Given the description of an element on the screen output the (x, y) to click on. 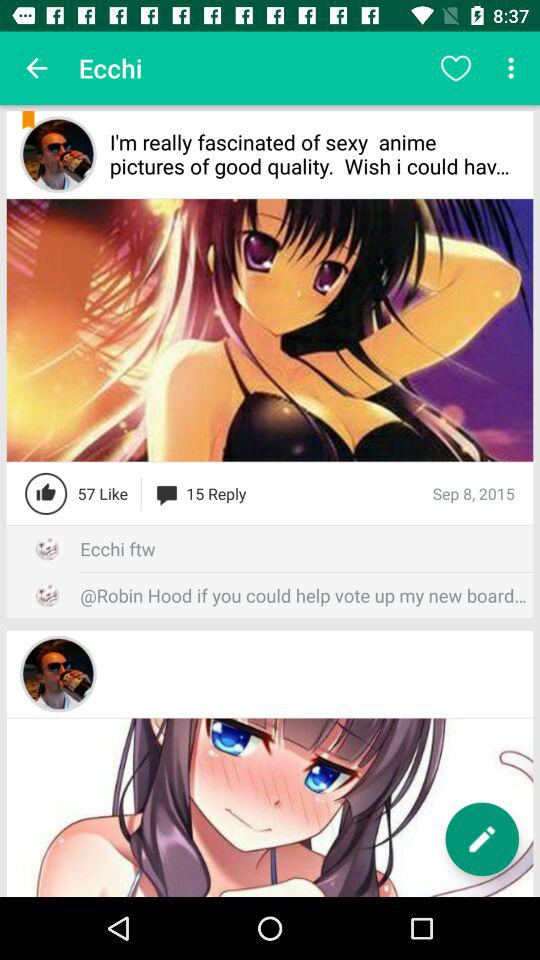
choose app next to the ecchi  app (455, 67)
